Given the description of an element on the screen output the (x, y) to click on. 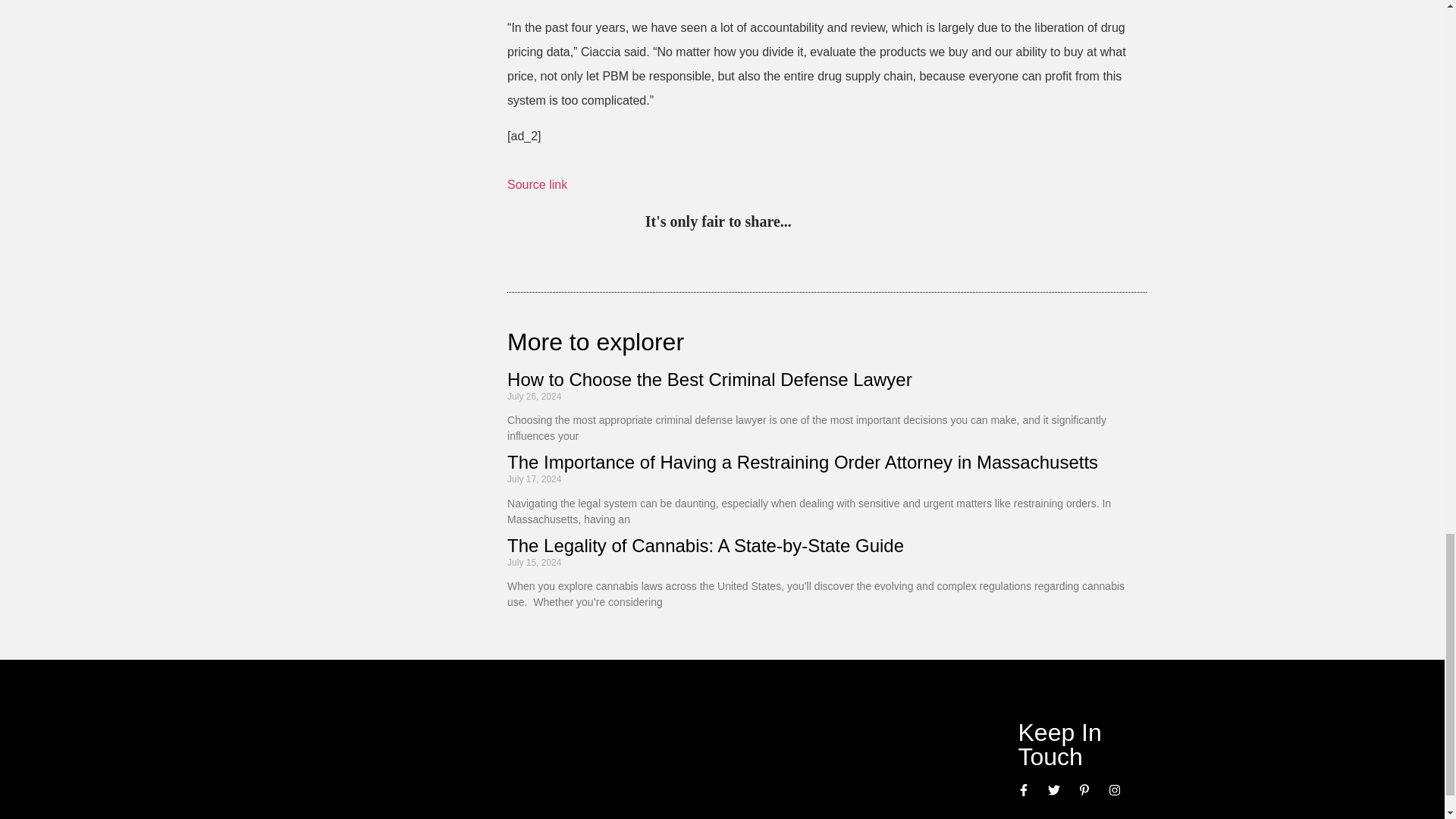
Source link (536, 184)
pinterest (807, 223)
print (993, 223)
linkedin (869, 223)
google (900, 223)
email (962, 223)
facebook (931, 223)
twitter (837, 223)
